Given the description of an element on the screen output the (x, y) to click on. 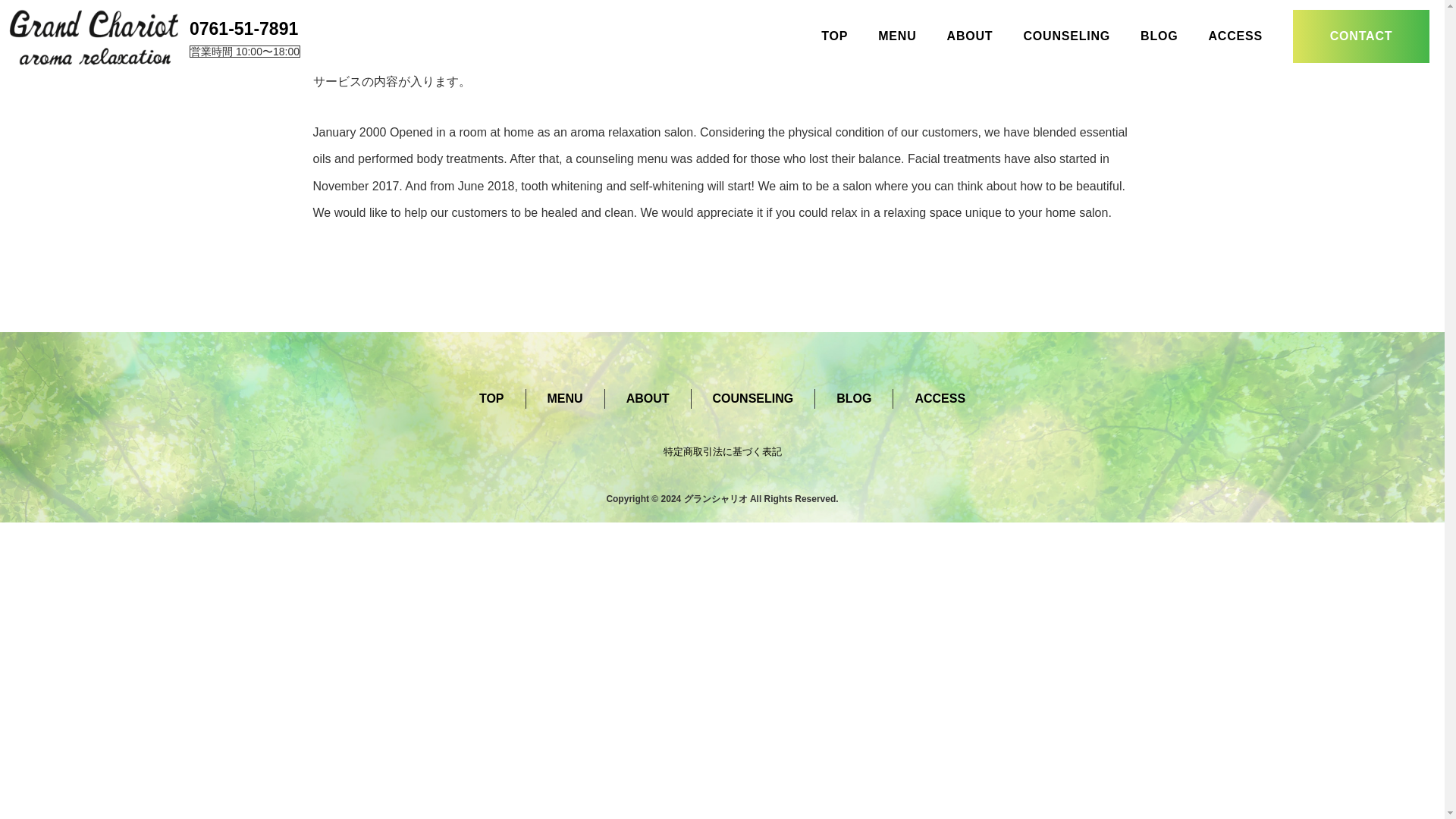
COUNSELING (753, 398)
BLOG (1158, 36)
COUNSELING (1066, 36)
MENU (565, 398)
TOP (491, 398)
MENU (896, 36)
ACCESS (939, 398)
TOP (834, 36)
0761-51-7891 (243, 28)
CONTACT (1360, 36)
